Given the description of an element on the screen output the (x, y) to click on. 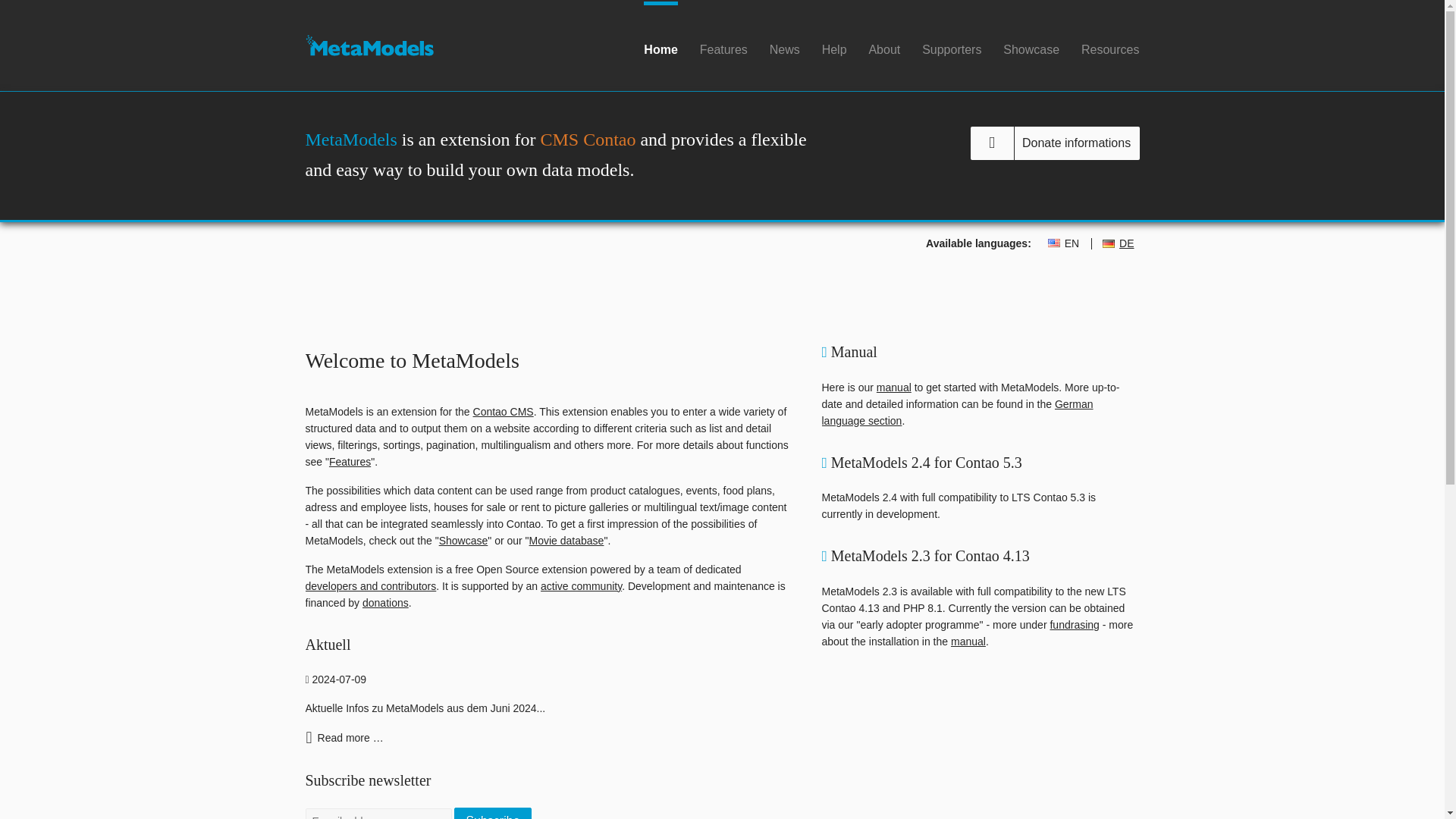
Donate informations (1055, 142)
DE (1118, 243)
Contao CMS (503, 411)
Showcase (463, 540)
active community (580, 585)
Subscribe (492, 813)
MetaModels (368, 45)
manual (967, 641)
developers and contributors (369, 585)
Features (350, 461)
manual (893, 387)
German language section (957, 412)
CMS Contao (587, 139)
Movie database (566, 540)
fundrasing (1074, 624)
